Given the description of an element on the screen output the (x, y) to click on. 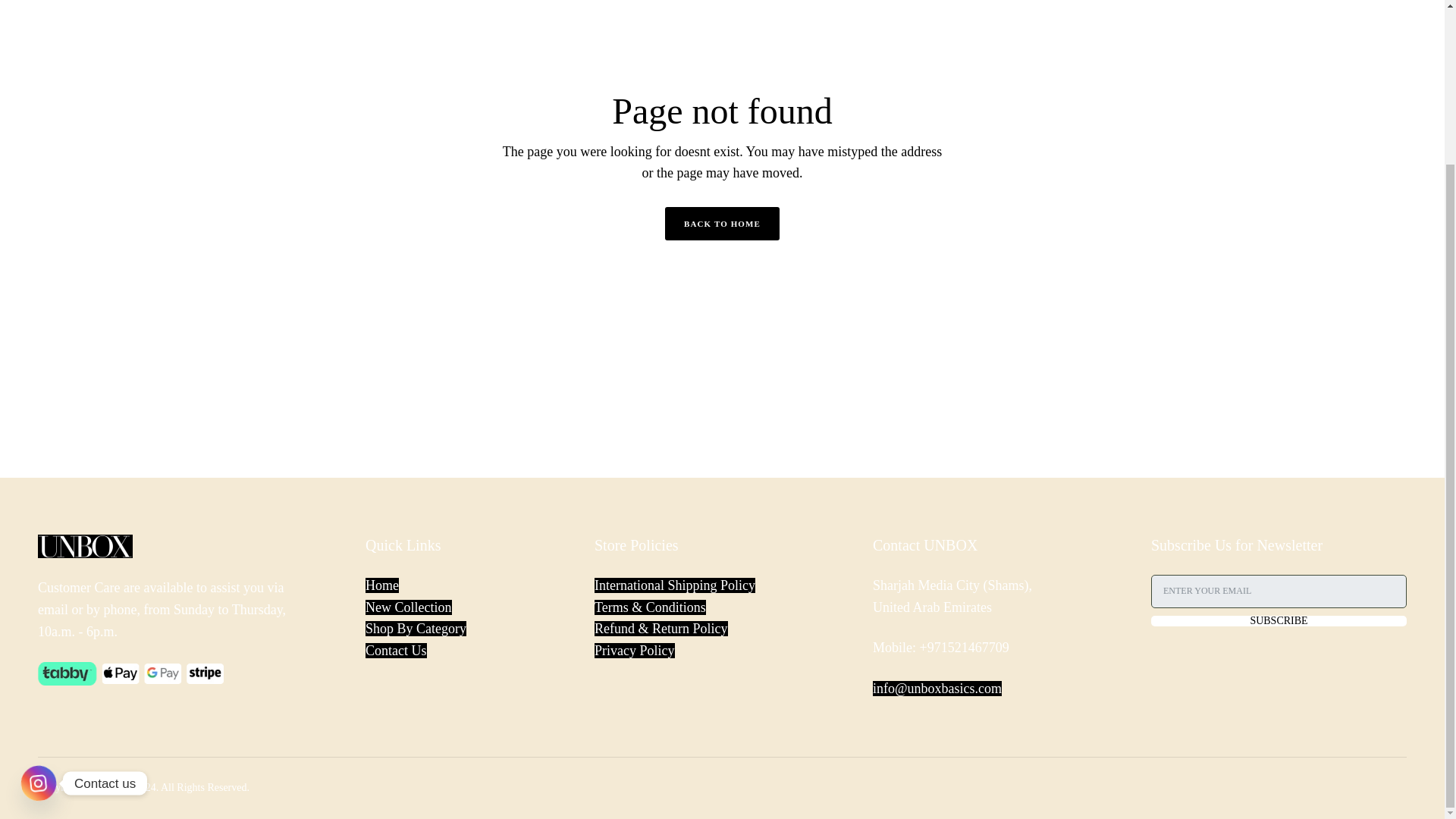
New Collection (408, 607)
International Shipping Policy (674, 585)
Contact Us (395, 650)
Privacy Policy (634, 650)
Home (381, 585)
BACK TO HOME (721, 223)
Shop By Category (415, 628)
SUBSCRIBE (1278, 620)
